Given the description of an element on the screen output the (x, y) to click on. 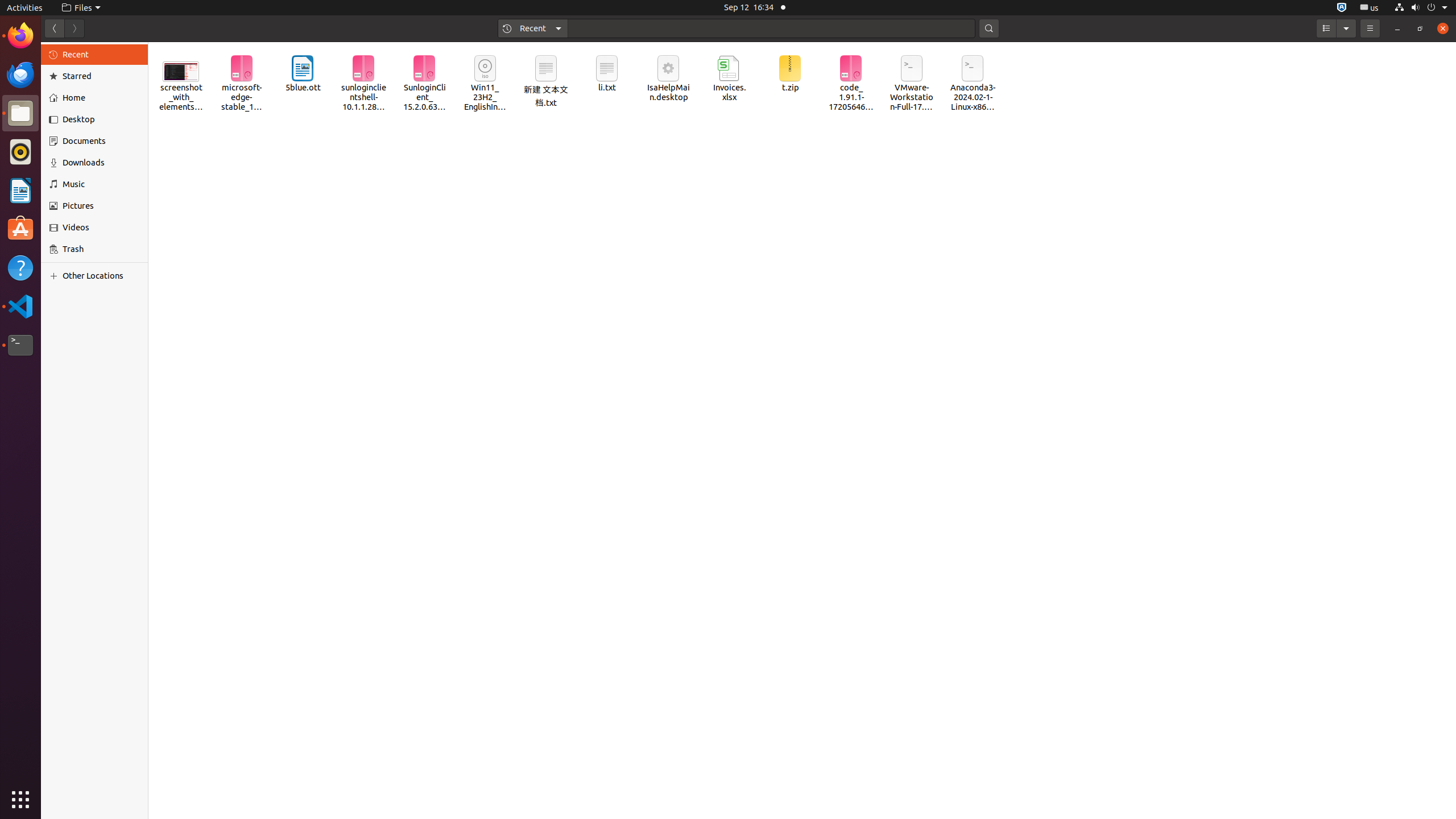
Minimize Element type: push-button (1397, 27)
Home Element type: label (100, 97)
Restore Element type: push-button (1419, 27)
新建 文本文档.txt Element type: canvas (546, 81)
Desktop Element type: label (100, 119)
